Given the description of an element on the screen output the (x, y) to click on. 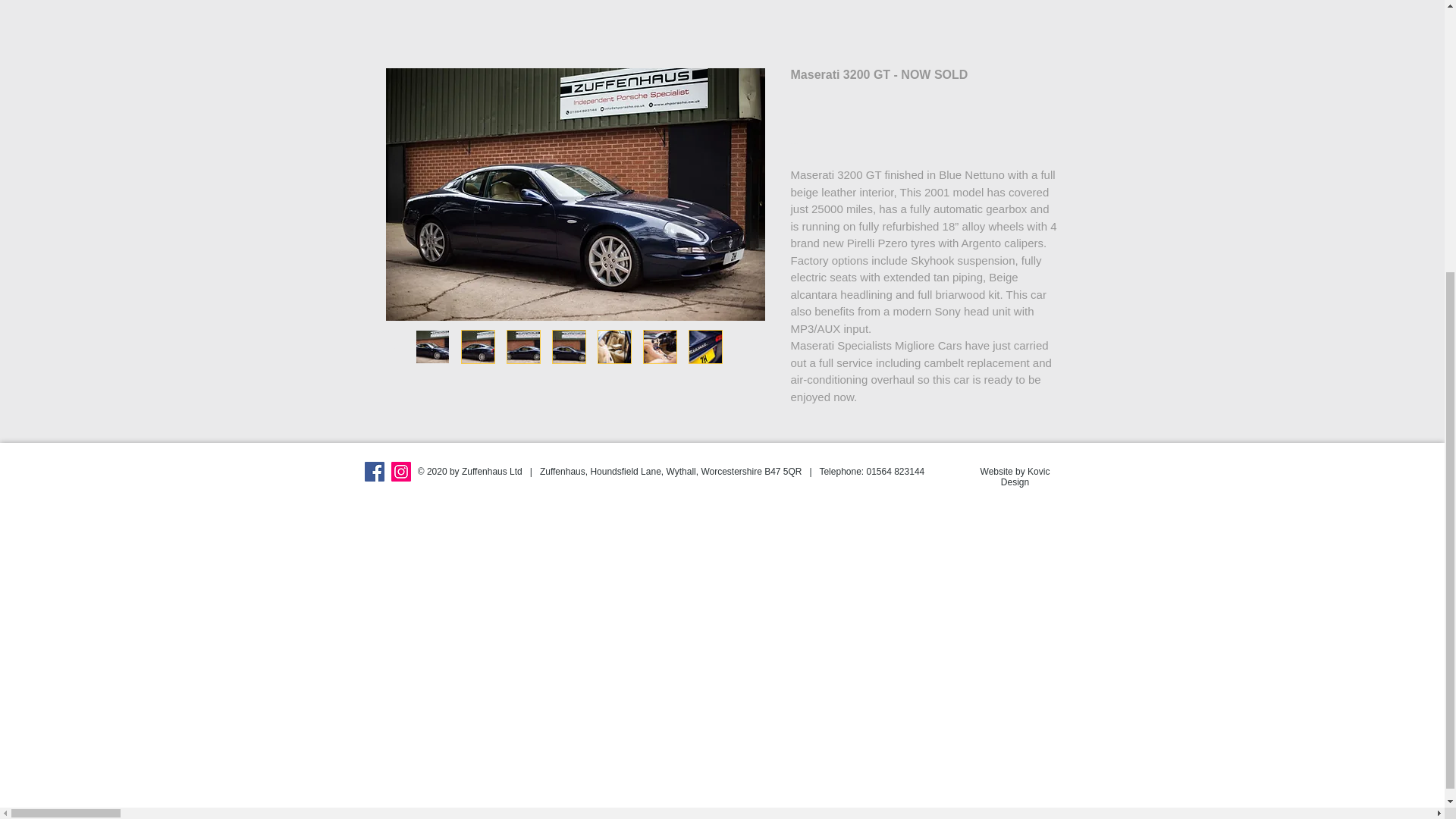
Website by Kovic Design (1014, 476)
Vehicle details (924, 147)
